Given the description of an element on the screen output the (x, y) to click on. 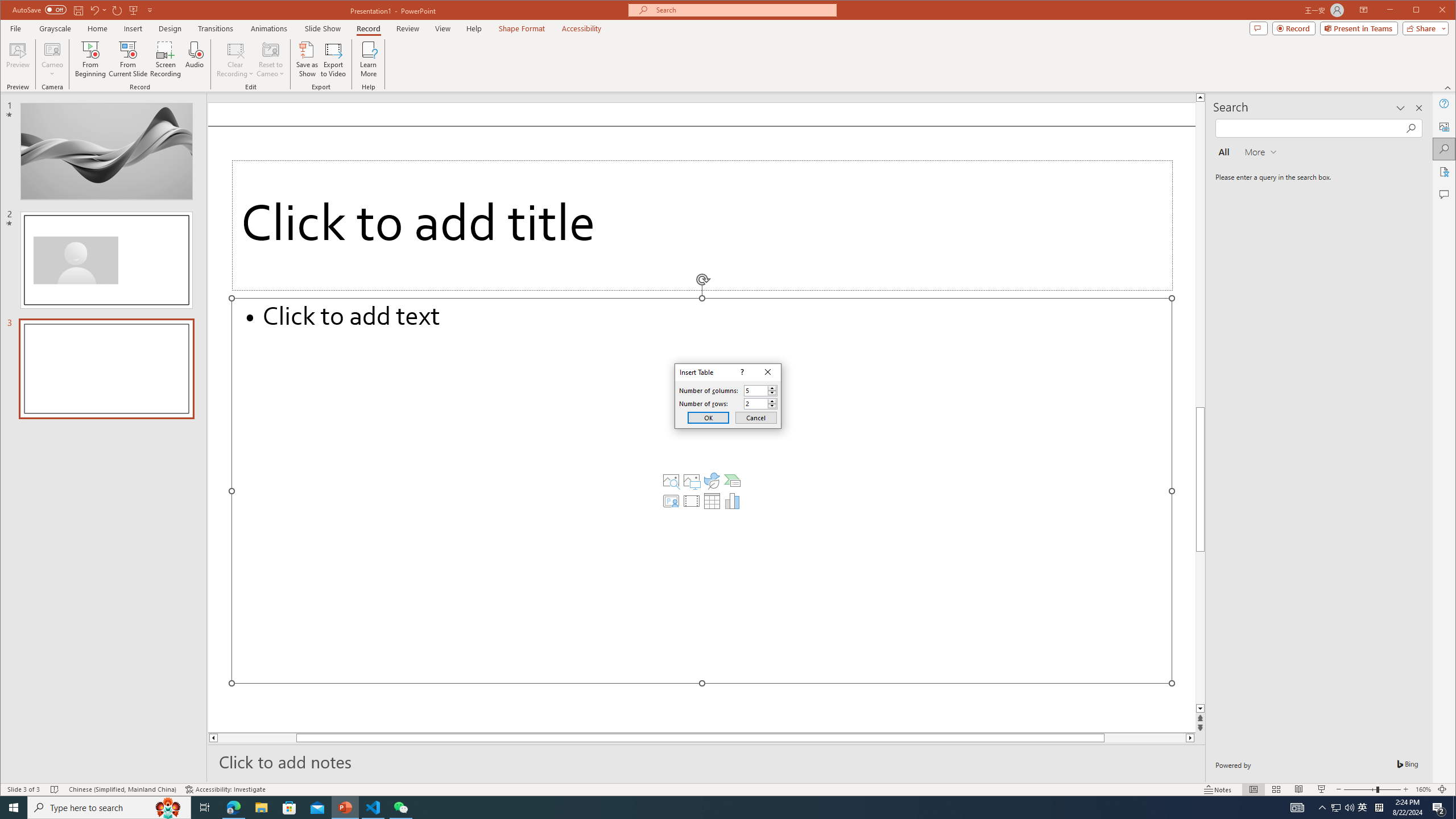
OK (708, 417)
Clear Recording (234, 59)
Number of rows (760, 403)
Zoom 160% (1422, 789)
Save as Show (307, 59)
Shape Format (521, 28)
